Given the description of an element on the screen output the (x, y) to click on. 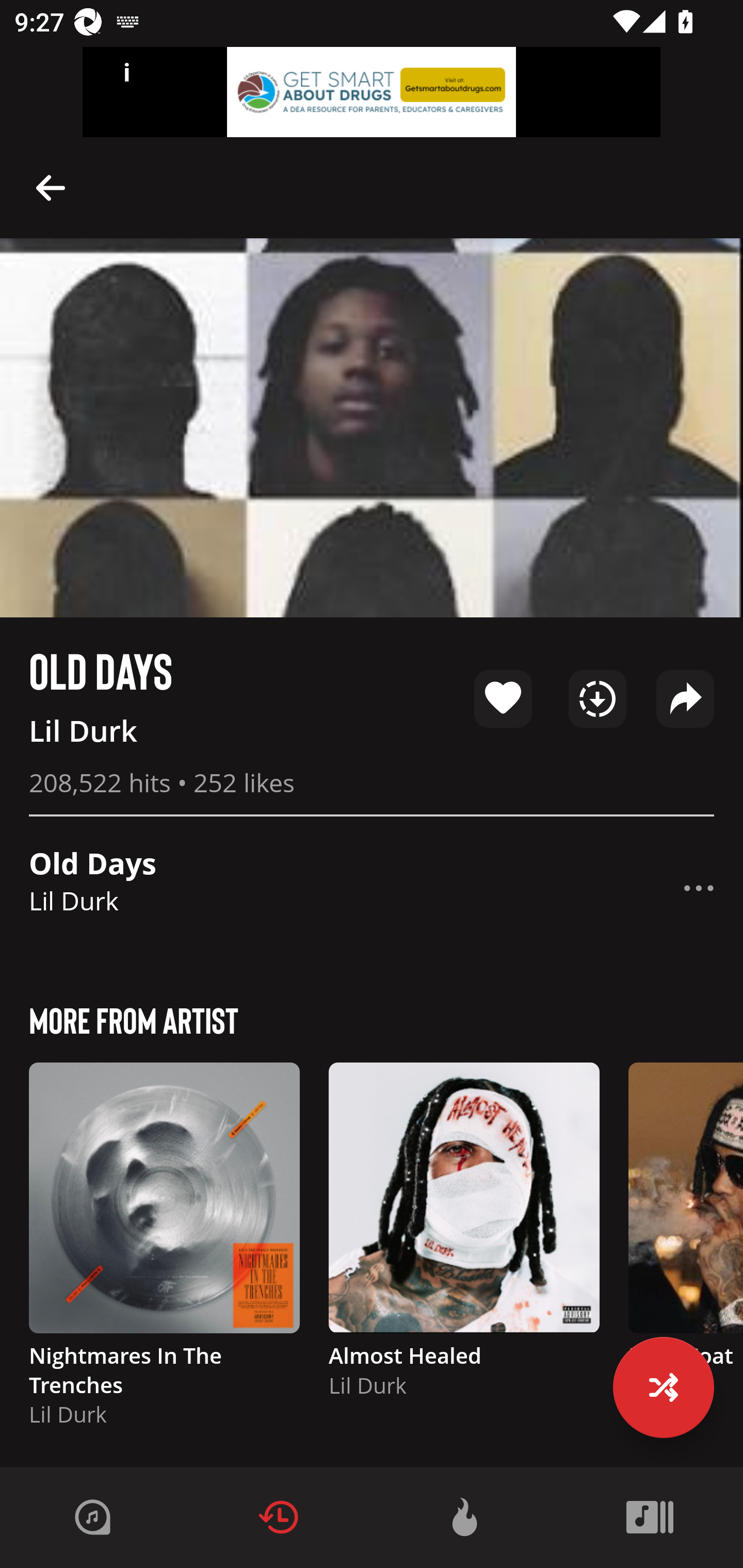
Description (50, 187)
Old Days Lil Durk Description (371, 888)
Description (698, 888)
Description Nightmares In The Trenches Lil Durk (164, 1253)
Description Almost Healed Lil Durk (463, 1238)
